Given the description of an element on the screen output the (x, y) to click on. 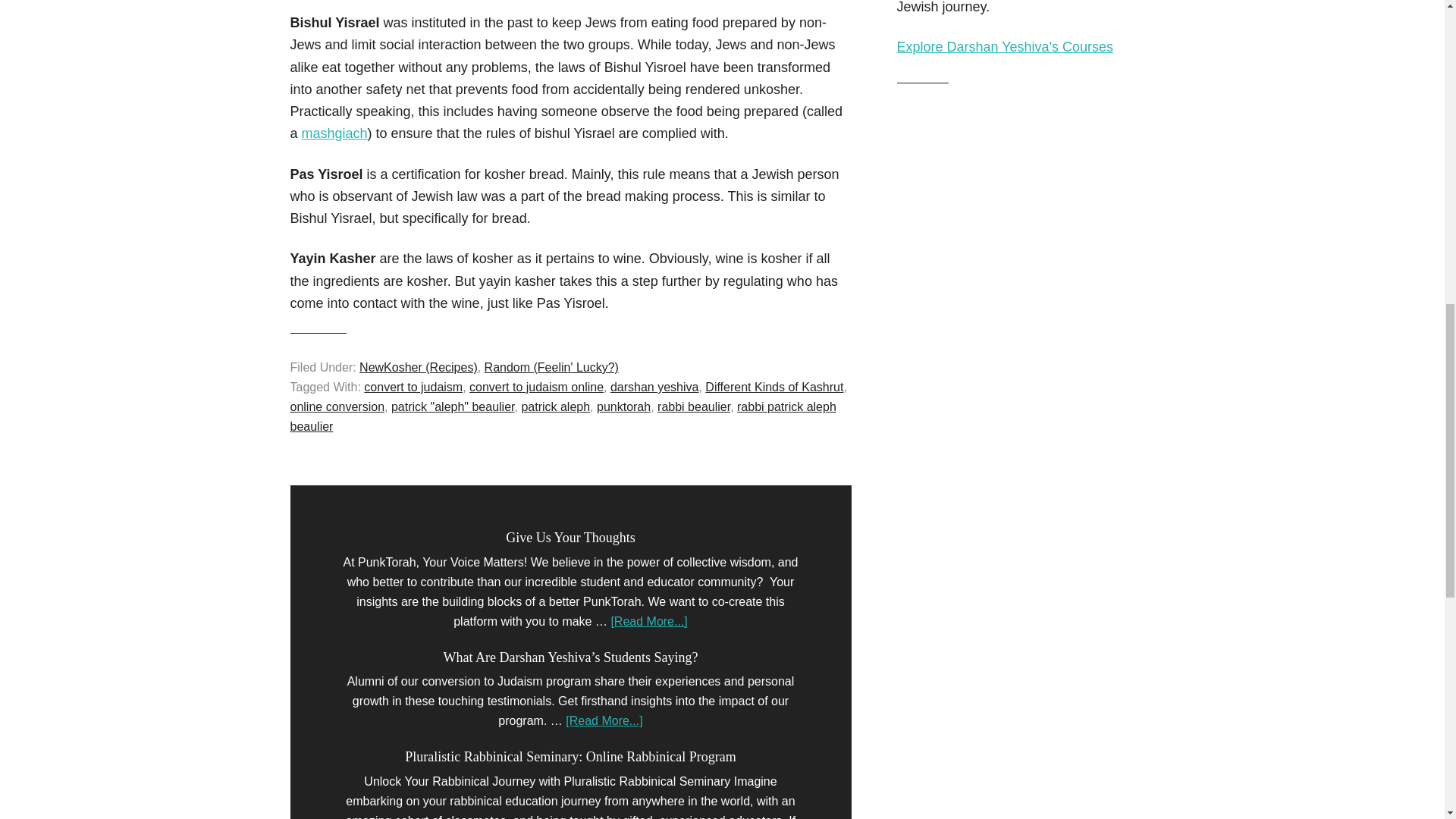
punktorah (623, 406)
patrick aleph (555, 406)
convert to judaism online (536, 386)
online conversion (336, 406)
darshan yeshiva (654, 386)
rabbi patrick aleph beaulier (562, 416)
convert to judaism (413, 386)
Give Us Your Thoughts (569, 537)
patrick "aleph" beaulier (453, 406)
Different Kinds of Kashrut (773, 386)
Mashgiach (334, 133)
Explore Darshan Yeshiva's Courses (1004, 46)
mashgiach (334, 133)
rabbi beaulier (694, 406)
Pluralistic Rabbinical Seminary: Online Rabbinical Program (569, 756)
